Given the description of an element on the screen output the (x, y) to click on. 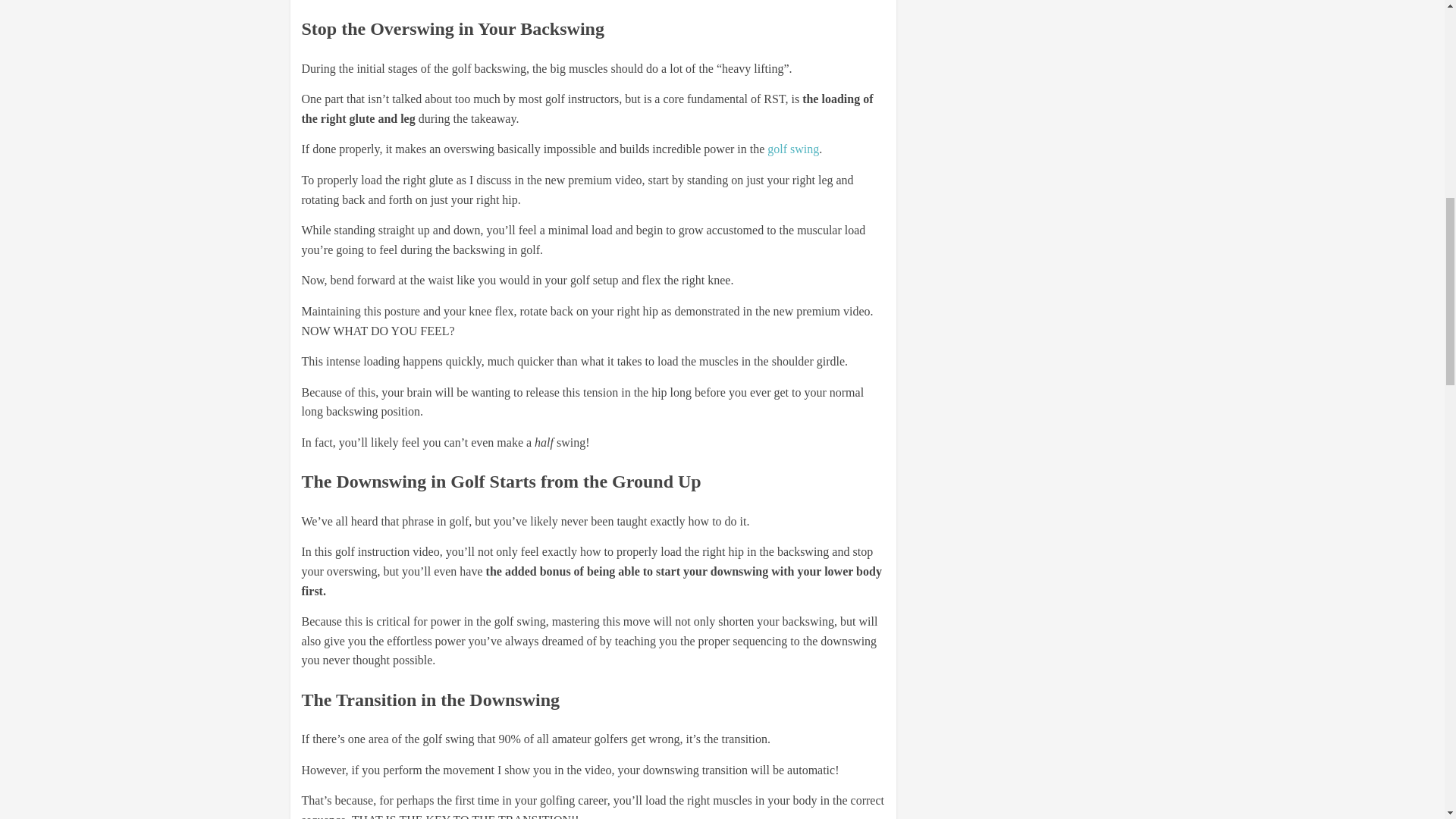
golf swing (792, 148)
golf swing (792, 148)
